Given the description of an element on the screen output the (x, y) to click on. 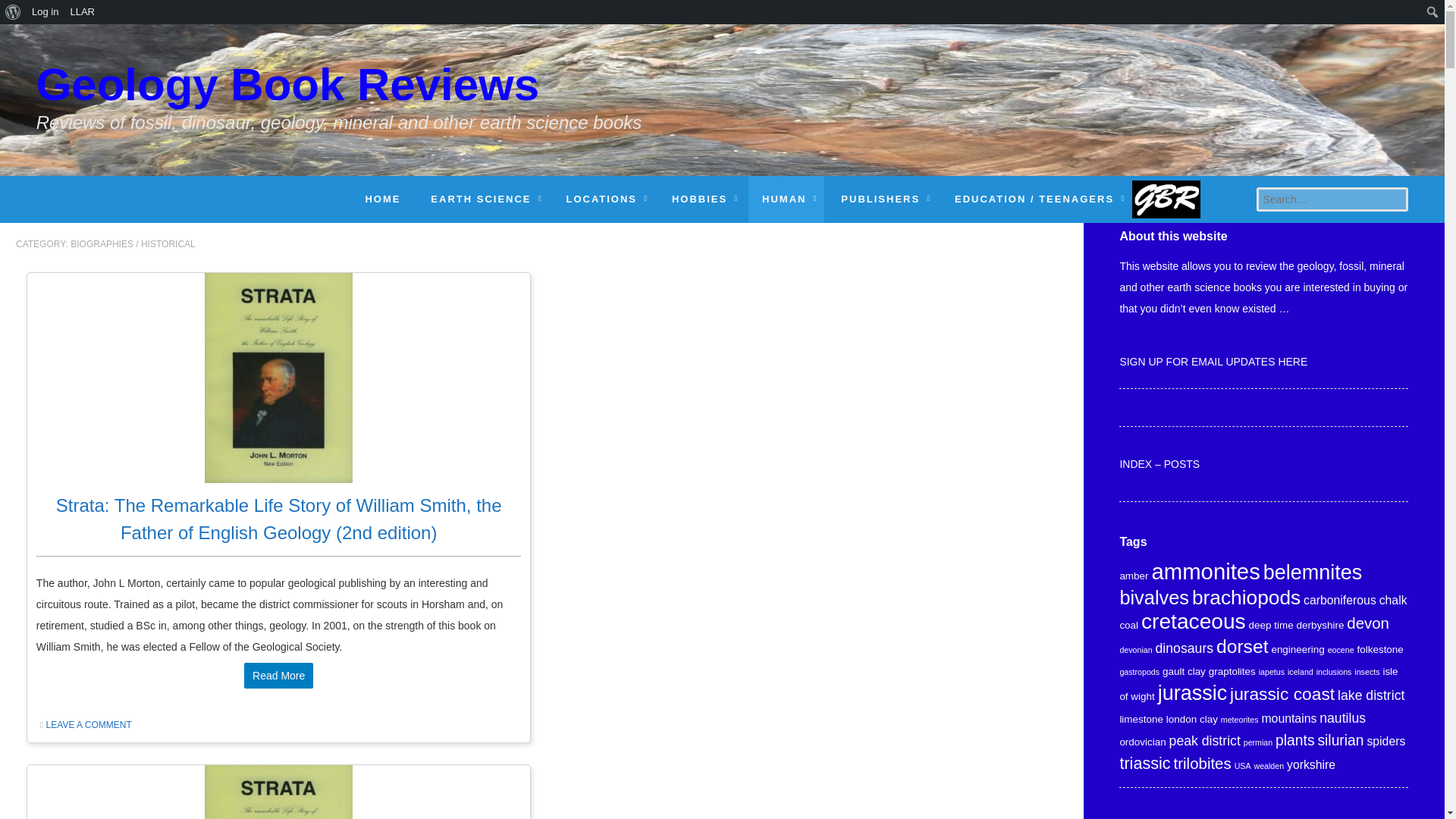
Geology Book Reviews (339, 95)
LLAR (82, 12)
Log in (45, 12)
Search (16, 12)
